Given the description of an element on the screen output the (x, y) to click on. 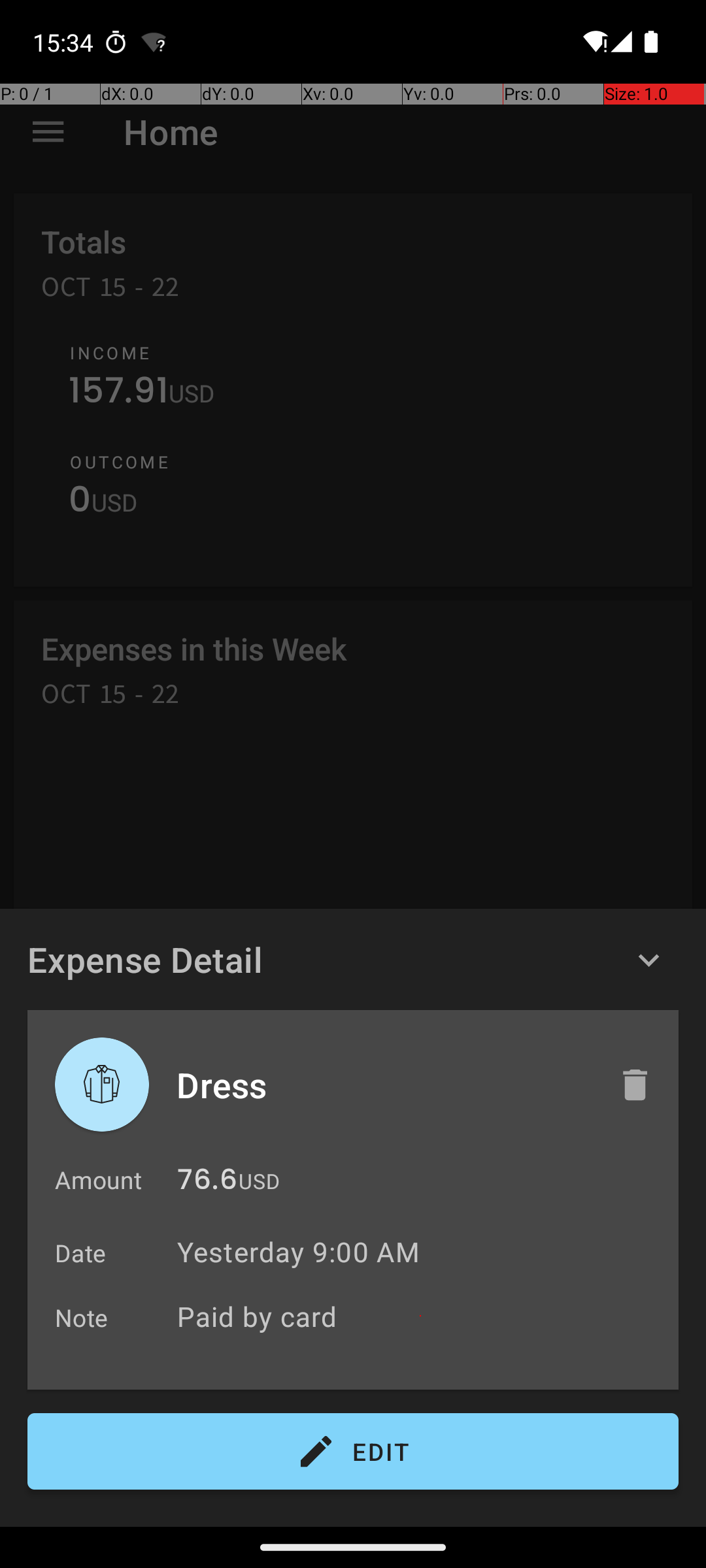
Dress Element type: android.widget.TextView (383, 1084)
76.6 Element type: android.widget.TextView (206, 1182)
Yesterday 9:00 AM Element type: android.widget.TextView (298, 1251)
